Given the description of an element on the screen output the (x, y) to click on. 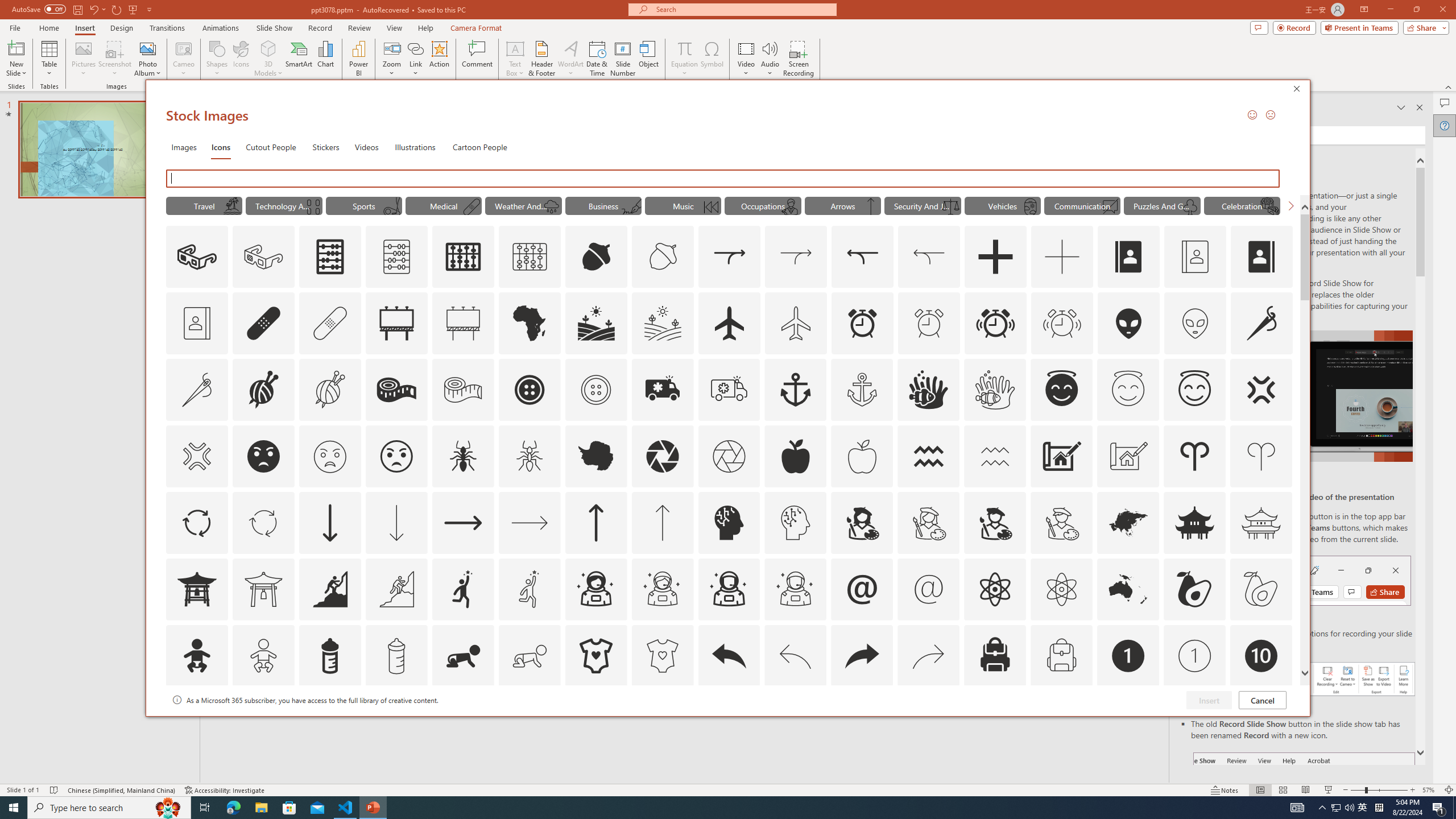
AutomationID: Icons_Back_RTL (861, 655)
AutomationID: Icons_Acorn (596, 256)
AutomationID: Icons_Agriculture_M (663, 323)
AutomationID: Icons_ClubSuit_M (1190, 206)
Action (439, 58)
AutomationID: Icons_ArrowUp (595, 522)
AutomationID: Icons_MoonCake_M (1269, 206)
Next Search Suggestion (1290, 205)
